Given the description of an element on the screen output the (x, y) to click on. 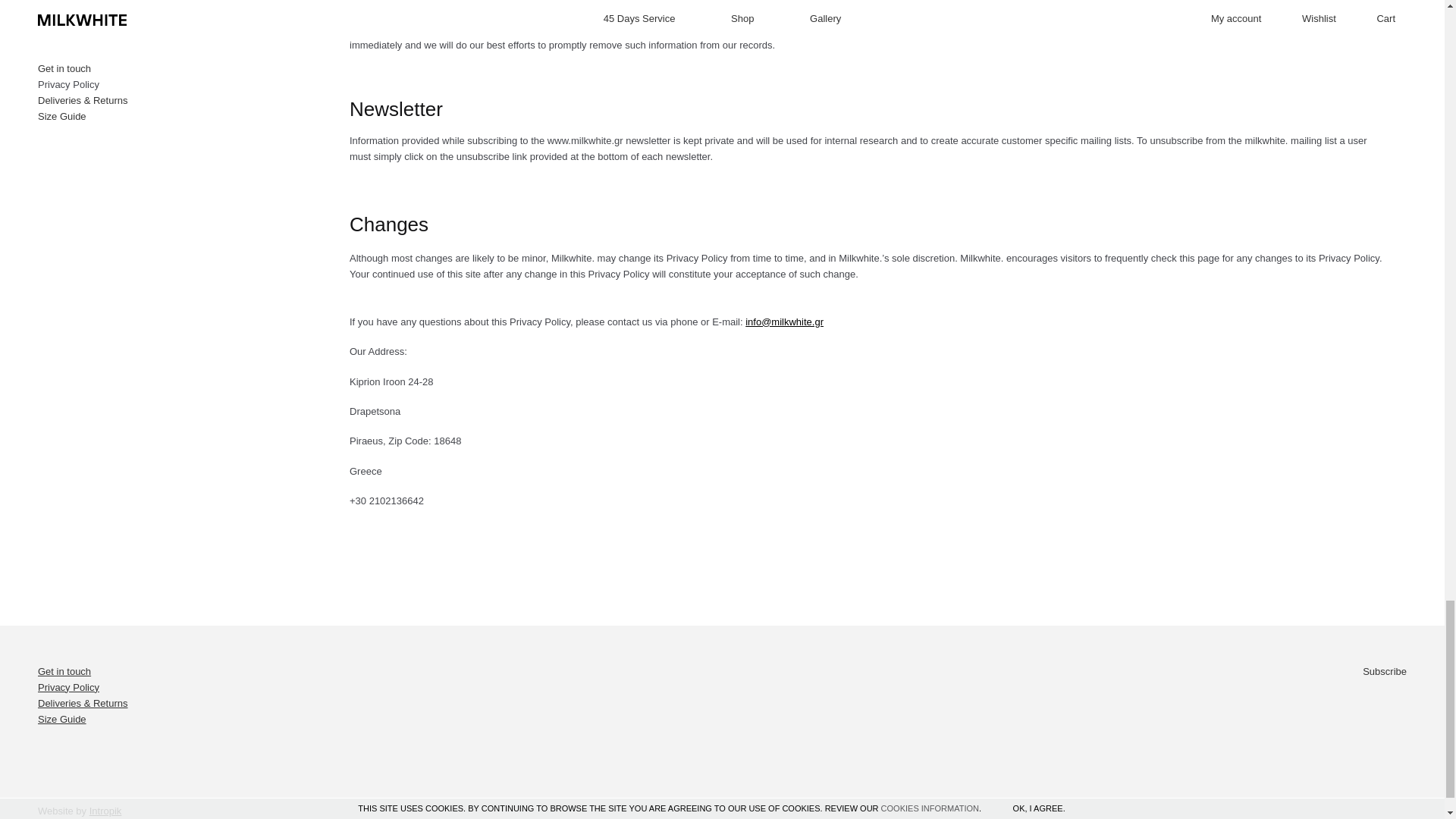
Get in touch (63, 671)
Subscribe (1384, 671)
Intropik (105, 810)
Privacy Policy (68, 686)
Size Guide (61, 718)
